Given the description of an element on the screen output the (x, y) to click on. 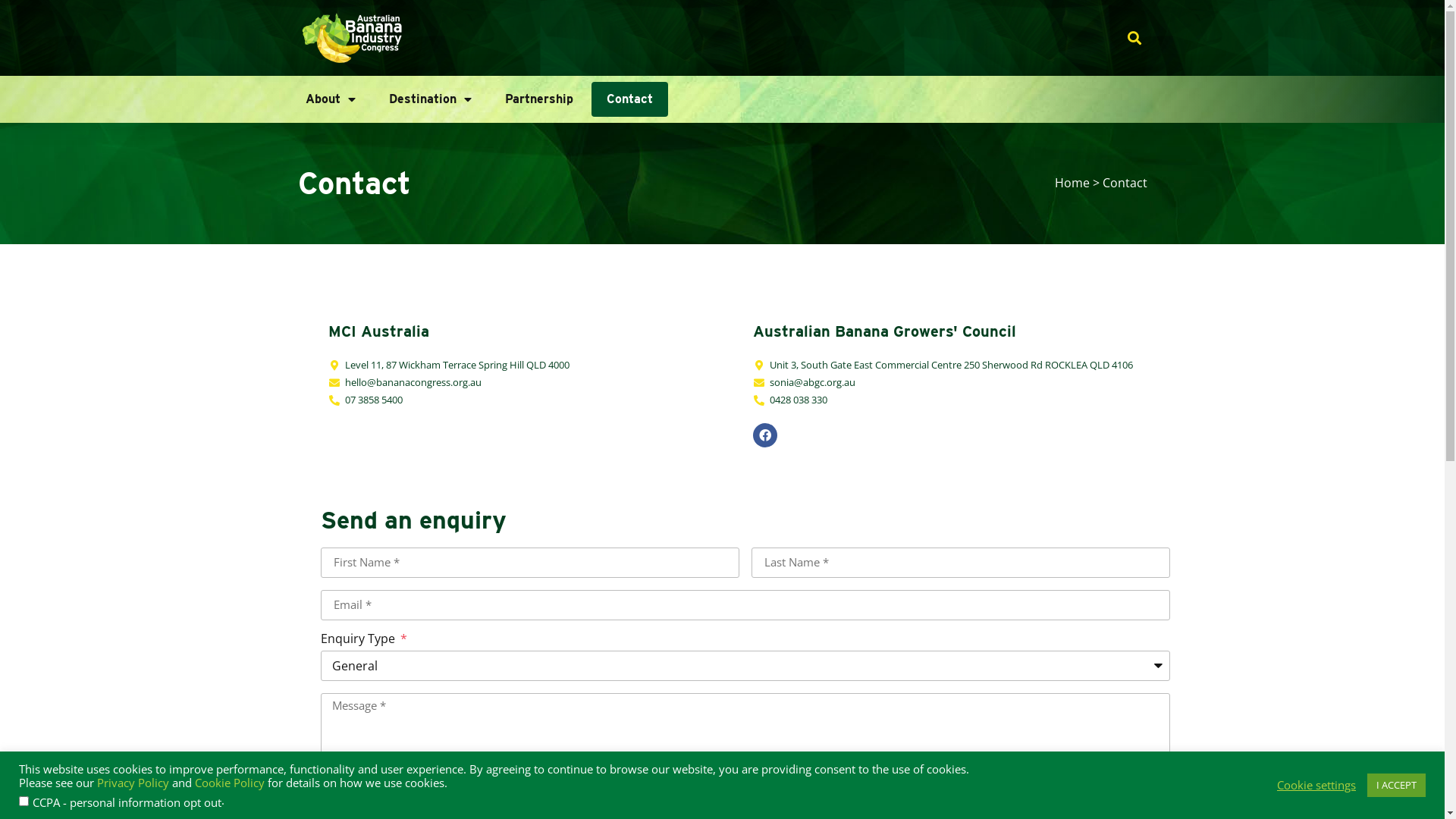
Cookie settings Element type: text (1316, 784)
Partnership Element type: text (538, 98)
Home Element type: text (1071, 182)
sonia@abgc.org.au Element type: text (956, 382)
Cookie Policy Element type: text (229, 782)
Privacy Policy Element type: text (452, 786)
BananaCongress-Logo-RGB-REV Element type: hover (350, 37)
07 3858 5400 Element type: text (532, 399)
About Element type: text (329, 98)
Contact Element type: text (629, 98)
0428 038 330 Element type: text (956, 399)
Privacy Policy Element type: text (133, 782)
I ACCEPT Element type: text (1396, 785)
Destination Element type: text (429, 98)
hello@bananacongress.org.au Element type: text (532, 382)
